Given the description of an element on the screen output the (x, y) to click on. 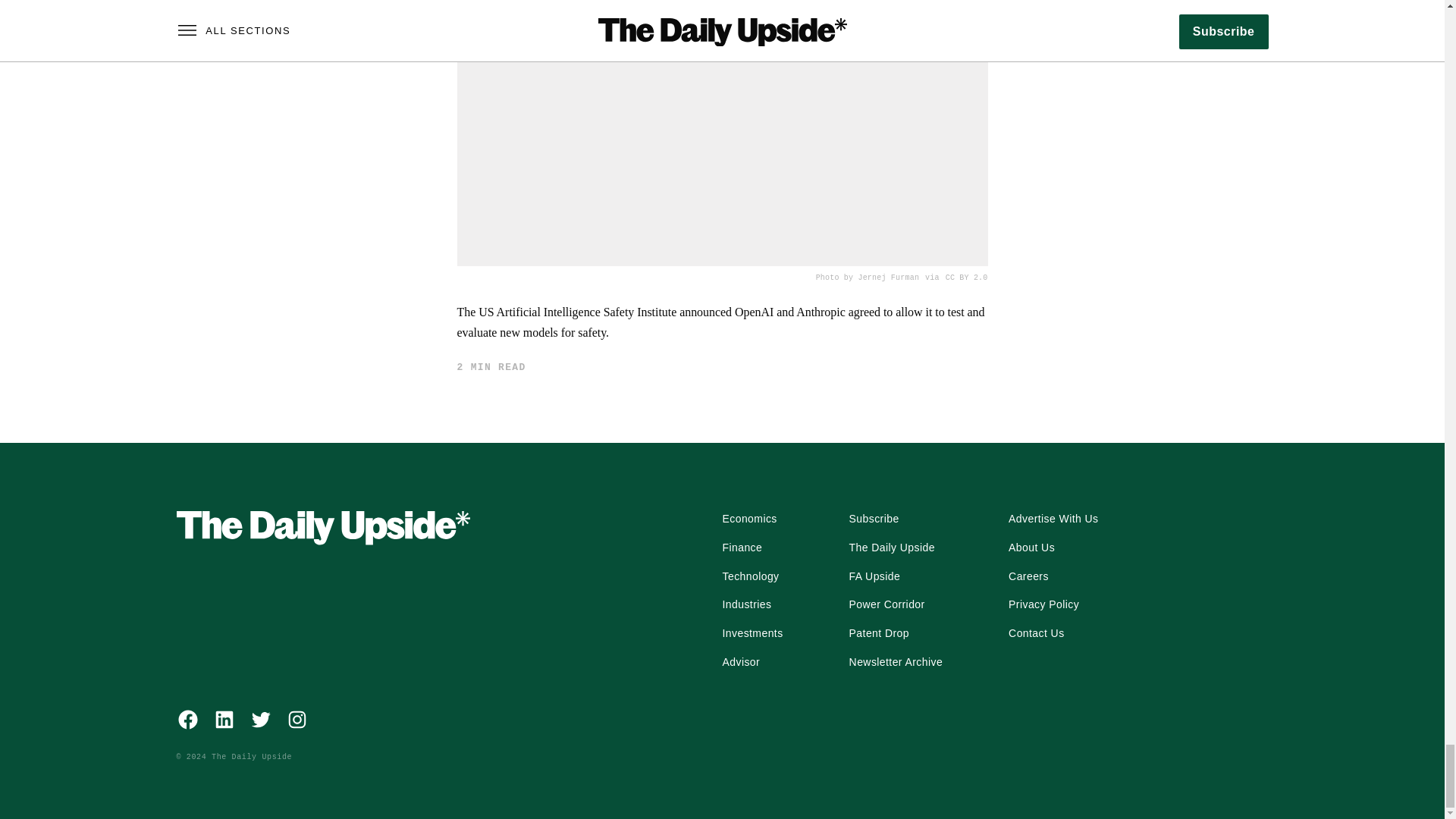
Advisor articles (741, 662)
Finance Articles (741, 547)
Technology articles (750, 576)
Investment articles (752, 633)
Economics Articles (749, 519)
Industry articles (746, 605)
